Given the description of an element on the screen output the (x, y) to click on. 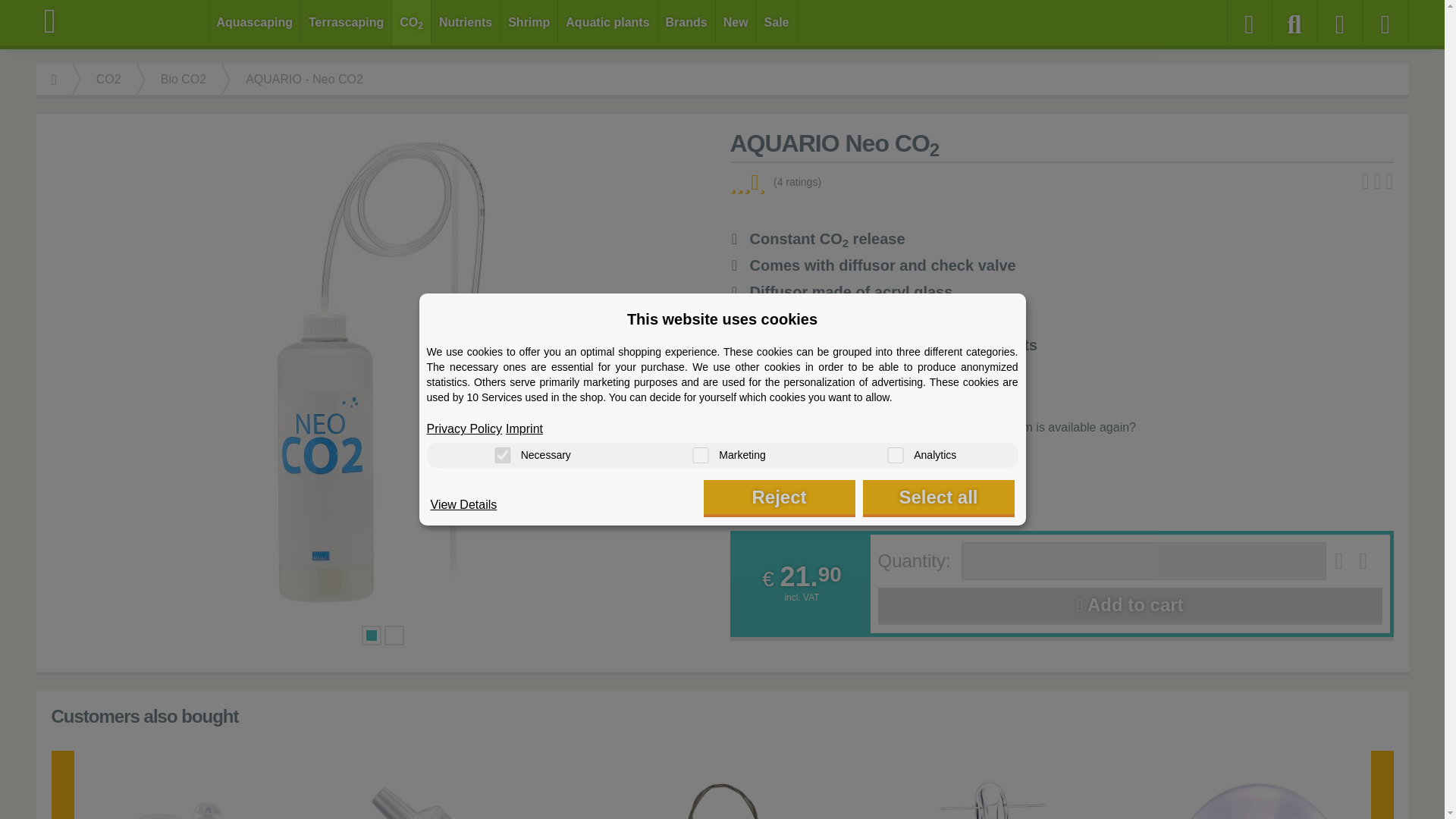
Aquascaping (254, 22)
on (699, 455)
on (895, 455)
Aquasabi (123, 21)
on (501, 455)
